Given the description of an element on the screen output the (x, y) to click on. 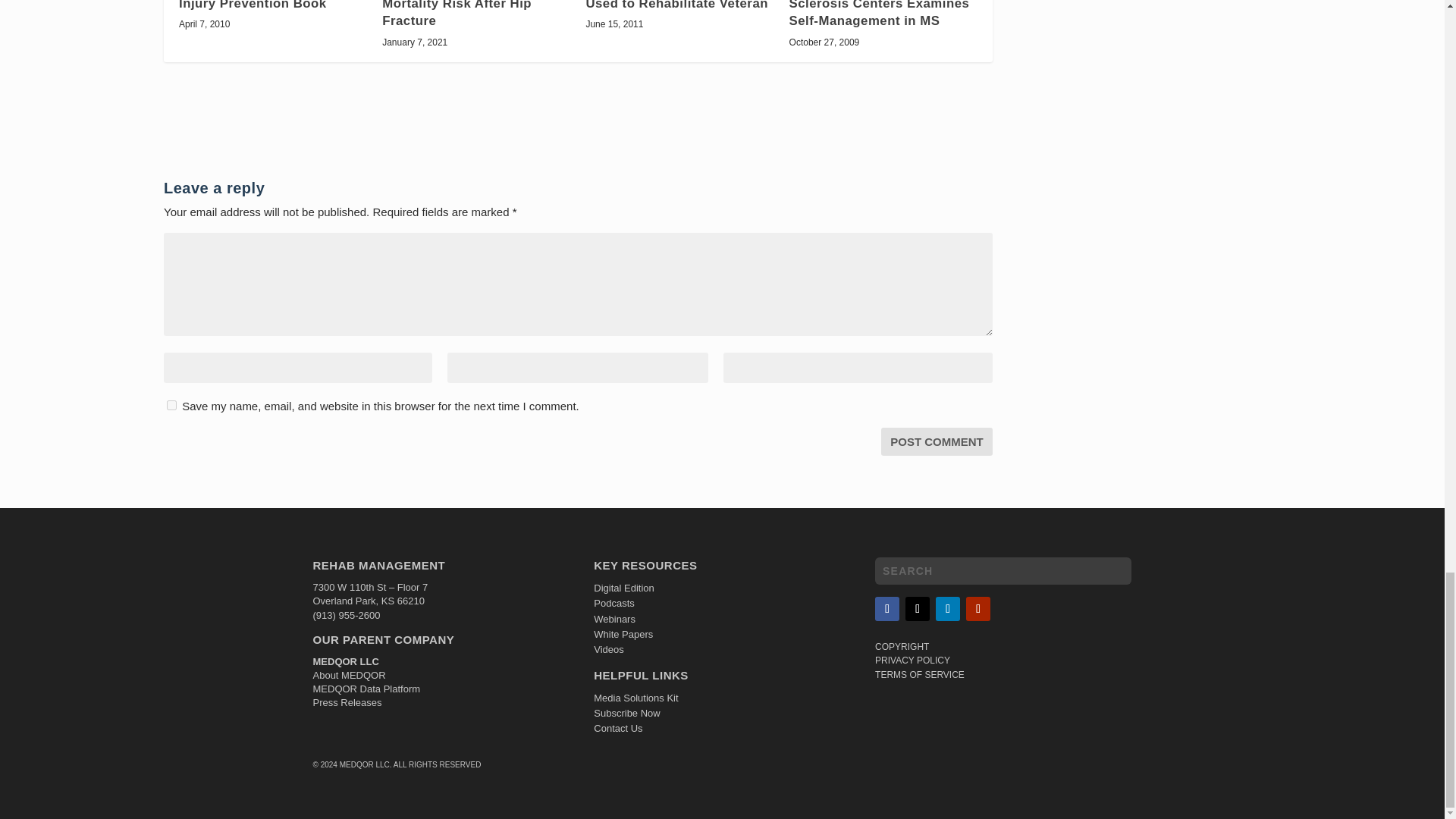
yes (171, 405)
Post Comment (936, 441)
